Given the description of an element on the screen output the (x, y) to click on. 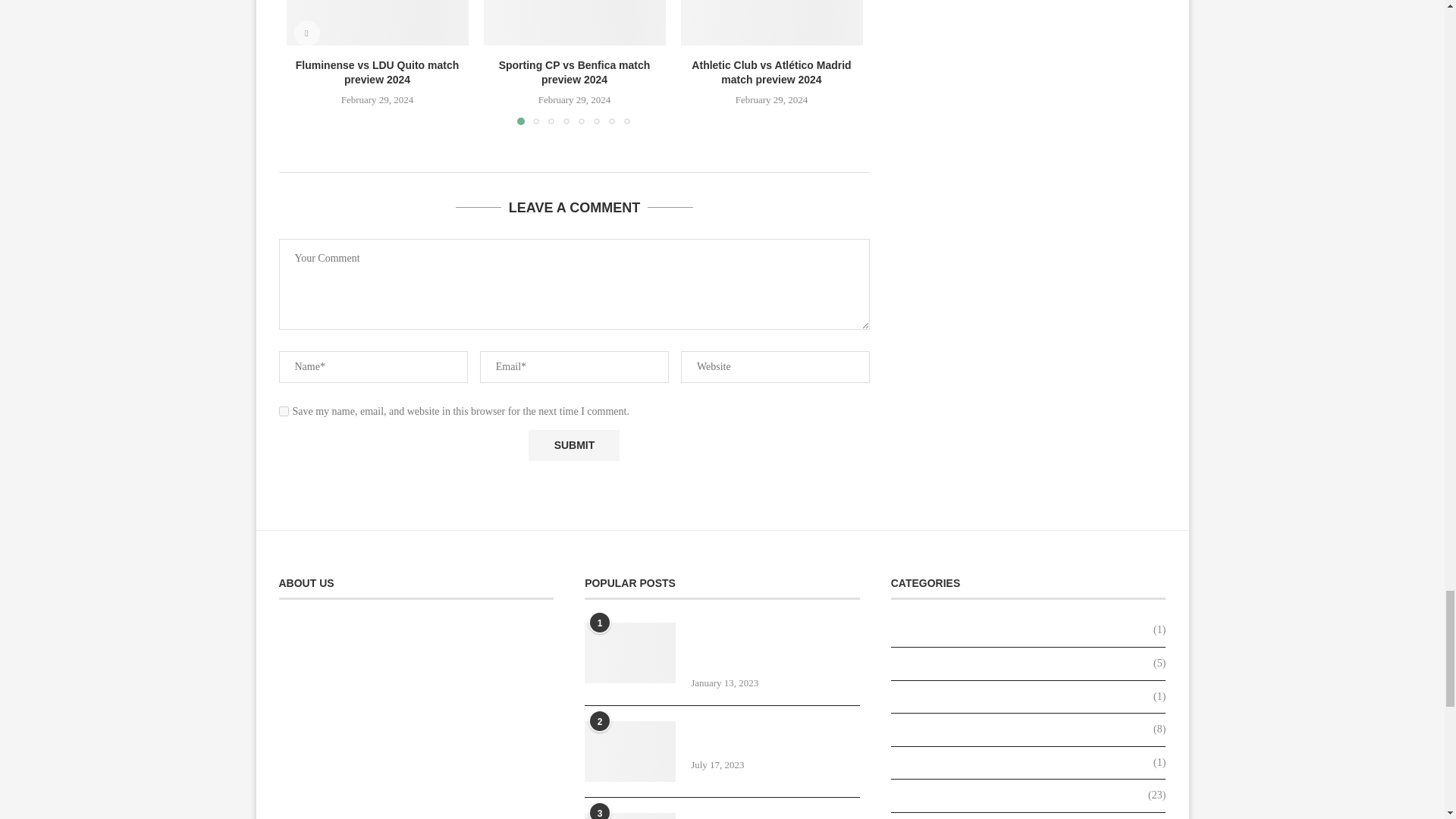
yes (283, 411)
Submit (574, 445)
